Given the description of an element on the screen output the (x, y) to click on. 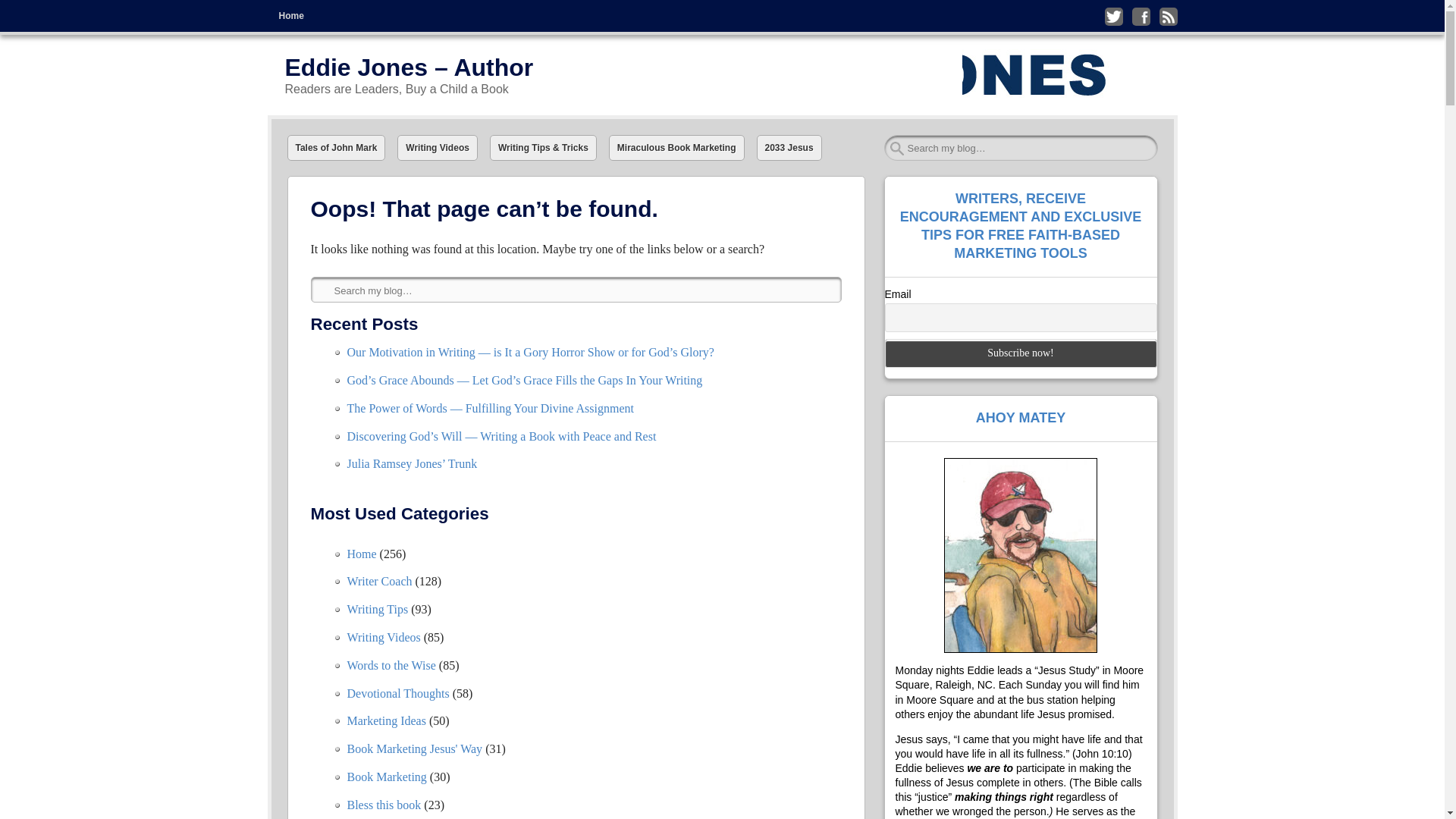
Miraculous Book Marketing (676, 147)
Home (362, 553)
Skip to content (299, 10)
Marketing Ideas (386, 720)
Like me on Facebook (1140, 16)
Skip to content (299, 10)
Tales of John Mark (335, 147)
Words to the Wise (391, 665)
Book Marketing Jesus' Way (415, 748)
Writing Videos (383, 636)
Bless this book (384, 804)
Devotional Thoughts (398, 693)
Follow me on Twitter (1112, 16)
Subscribe now! (1019, 353)
Writing Tips (378, 608)
